Given the description of an element on the screen output the (x, y) to click on. 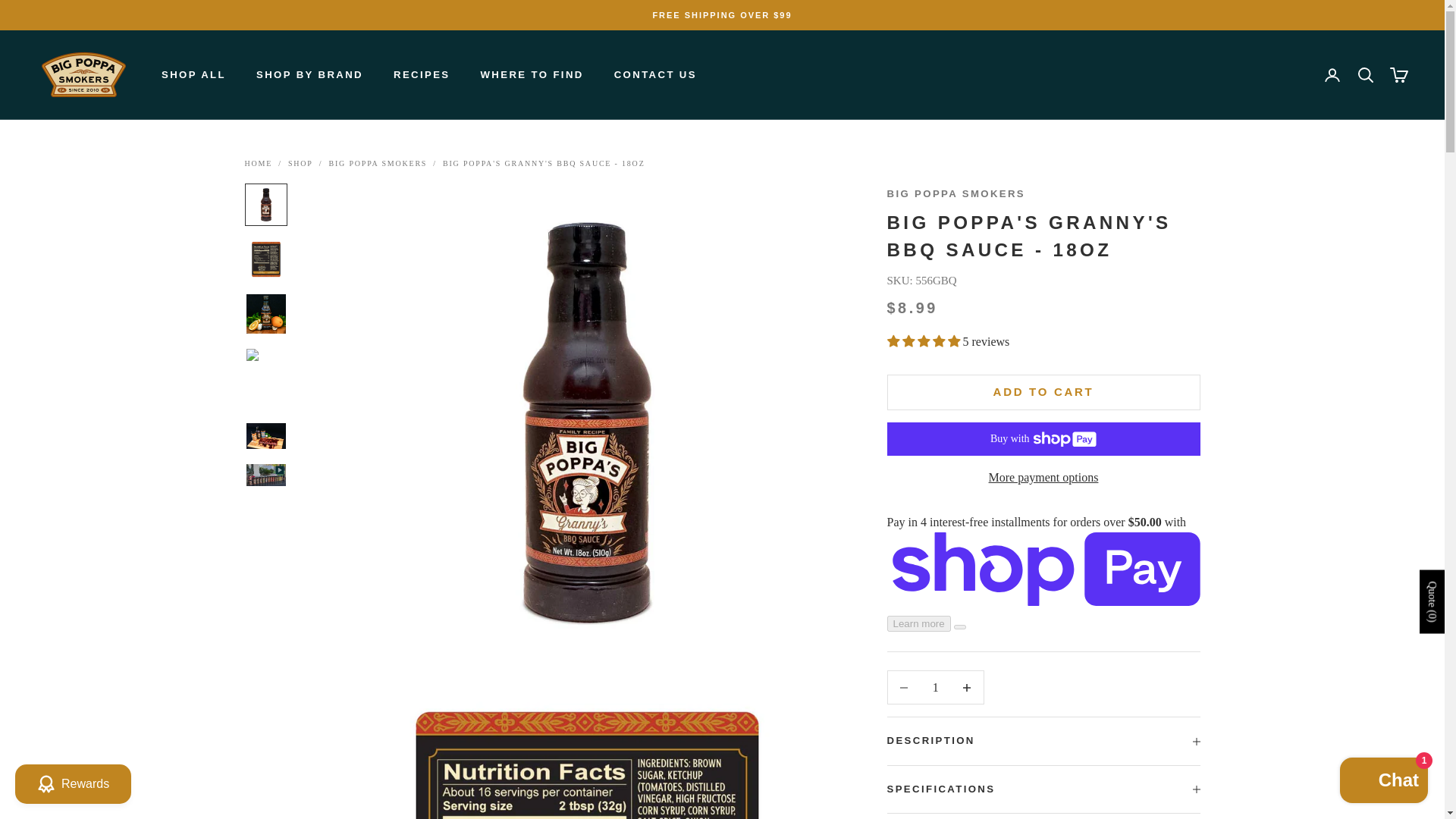
1 (935, 686)
